Given the description of an element on the screen output the (x, y) to click on. 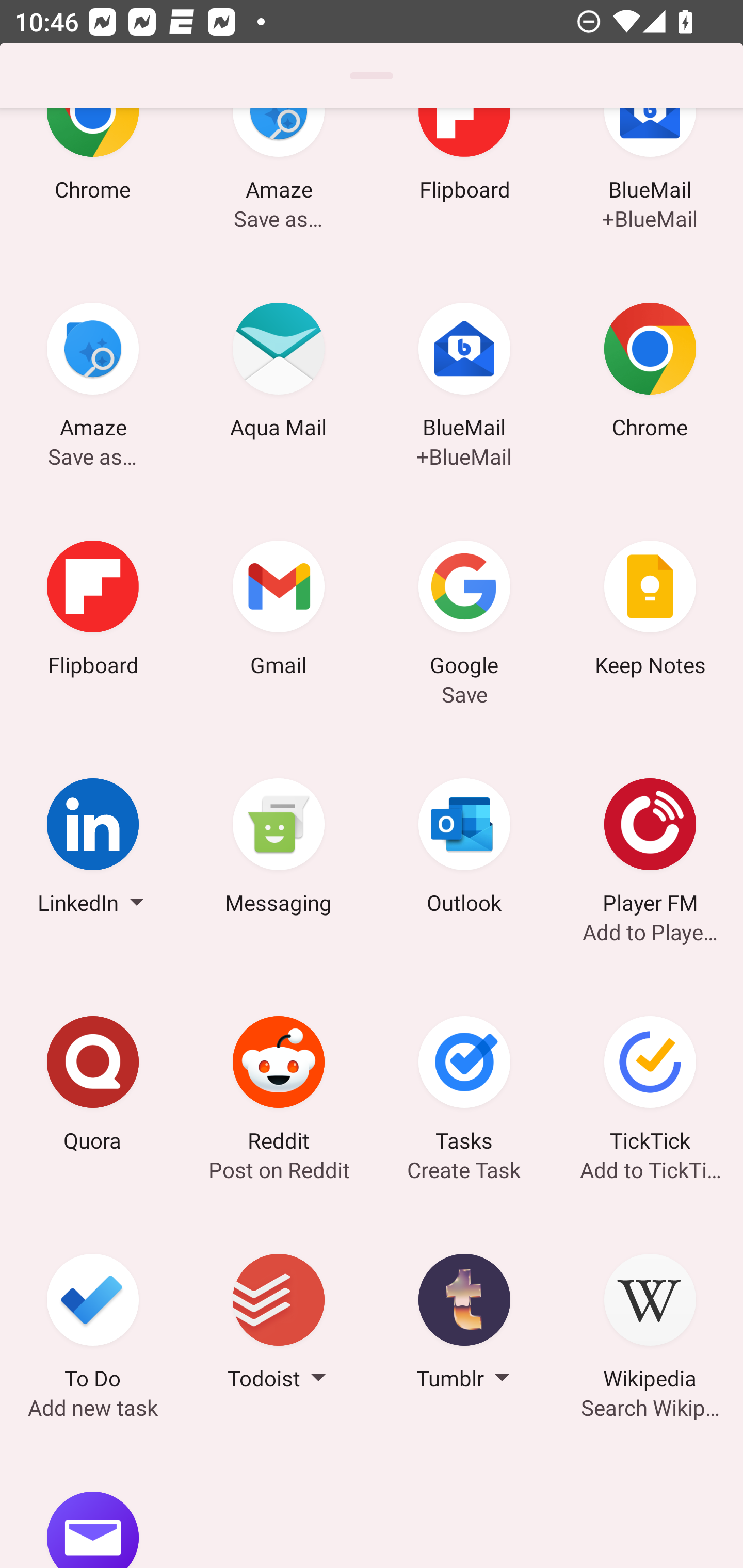
Chrome (92, 181)
Amaze Save as… (278, 181)
Flipboard (464, 181)
BlueMail +BlueMail (650, 181)
Amaze Save as… (92, 373)
Aqua Mail (278, 373)
BlueMail +BlueMail (464, 373)
Chrome (650, 373)
Flipboard (92, 611)
Gmail (278, 611)
Google Save (464, 611)
Keep Notes (650, 611)
LinkedIn (92, 848)
Messaging (278, 848)
Outlook (464, 848)
Player FM Add to Player FM (650, 848)
Quora (92, 1086)
Reddit Post on Reddit (278, 1086)
Tasks Create Task (464, 1086)
TickTick Add to TickTick (650, 1086)
To Do Add new task (92, 1324)
Todoist (278, 1324)
Tumblr (464, 1324)
Wikipedia Search Wikipedia (650, 1324)
